Given the description of an element on the screen output the (x, y) to click on. 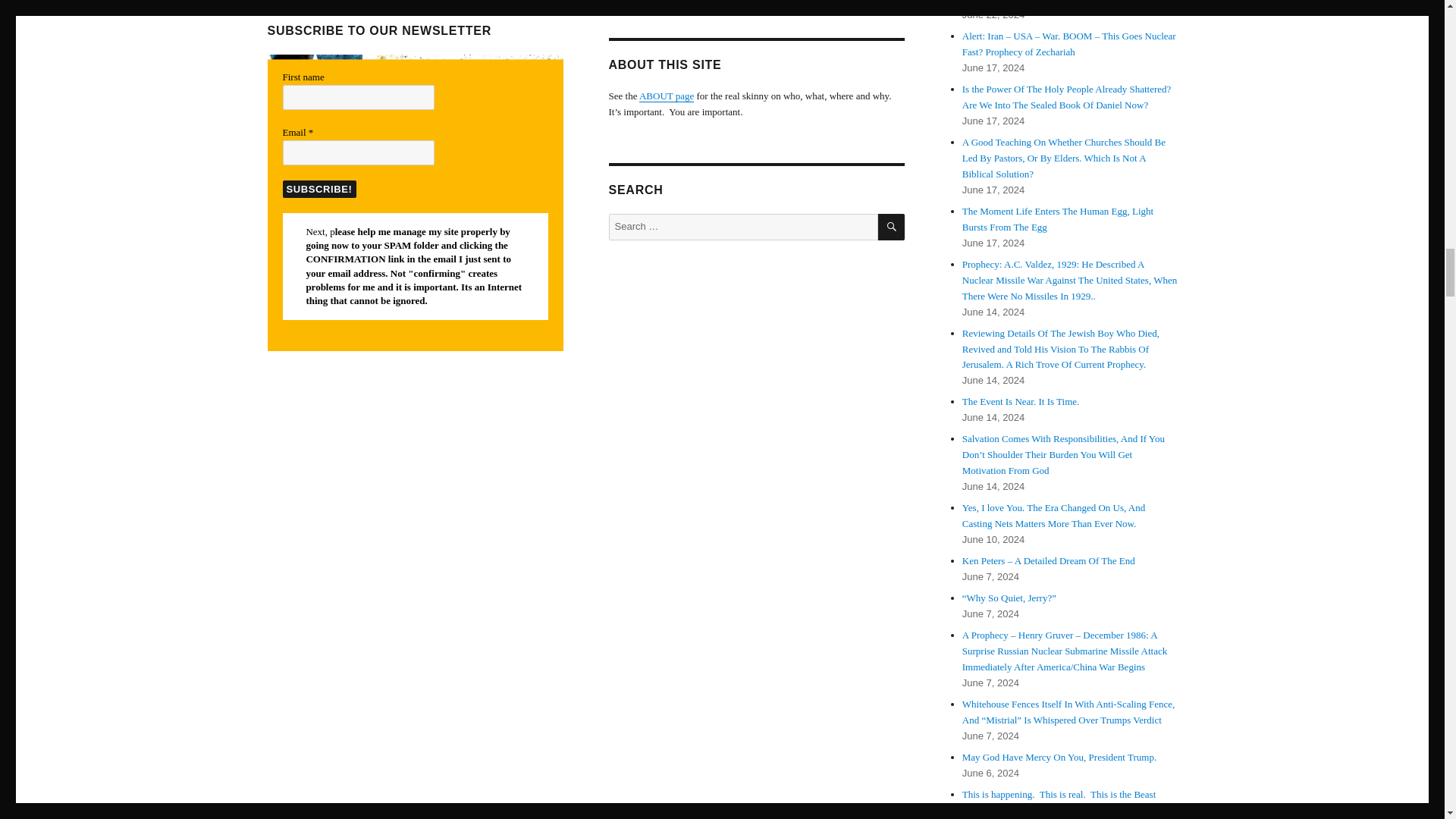
Subscribe! (318, 189)
